Given the description of an element on the screen output the (x, y) to click on. 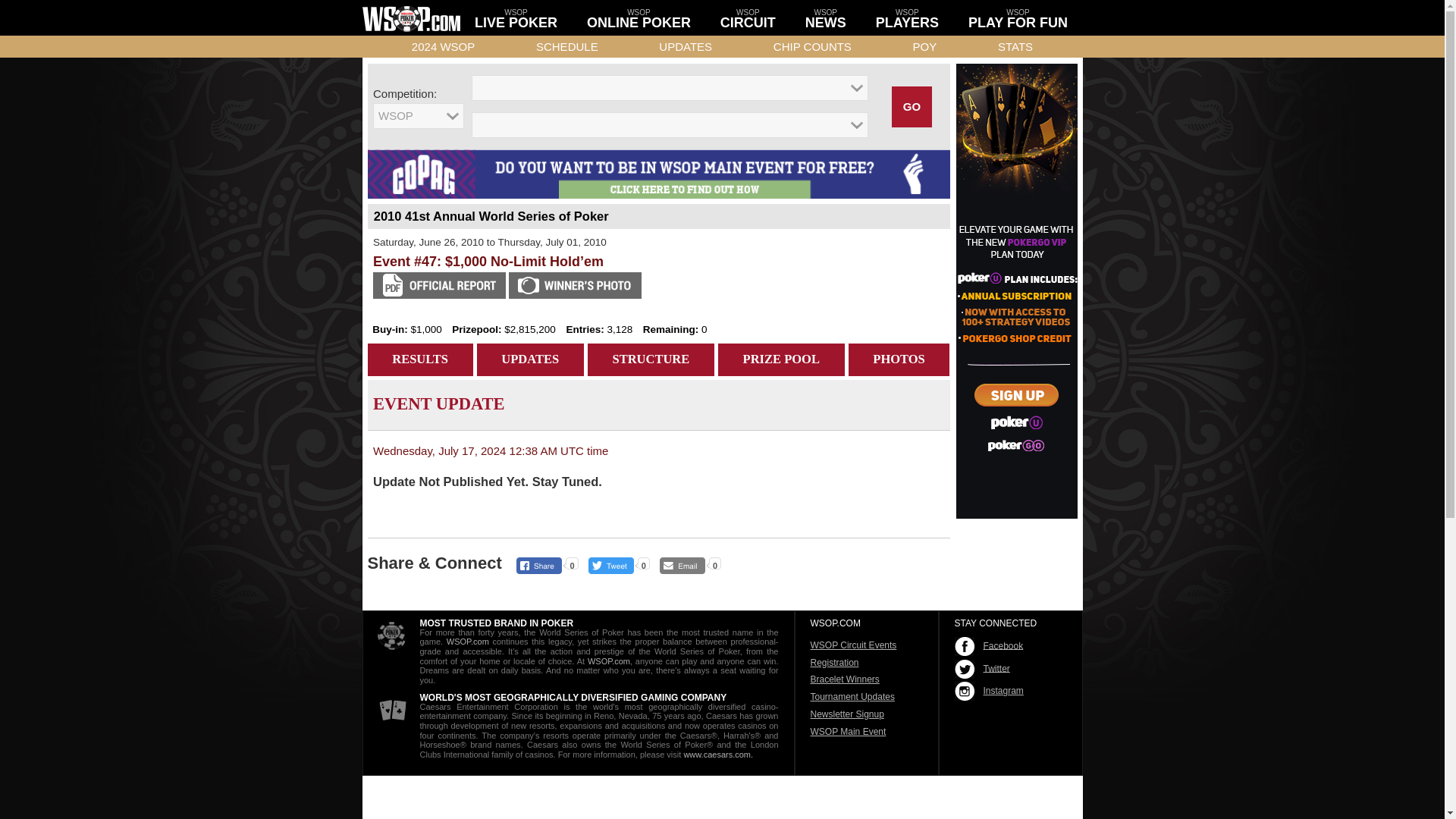
WSOPPLAYERS (907, 16)
WSOPNEWS (825, 16)
WSOPONLINE POKER (638, 16)
WSOPCIRCUIT (748, 16)
WSOPPLAY FOR FUN (1017, 16)
WSOPLIVE POKER (515, 16)
